Given the description of an element on the screen output the (x, y) to click on. 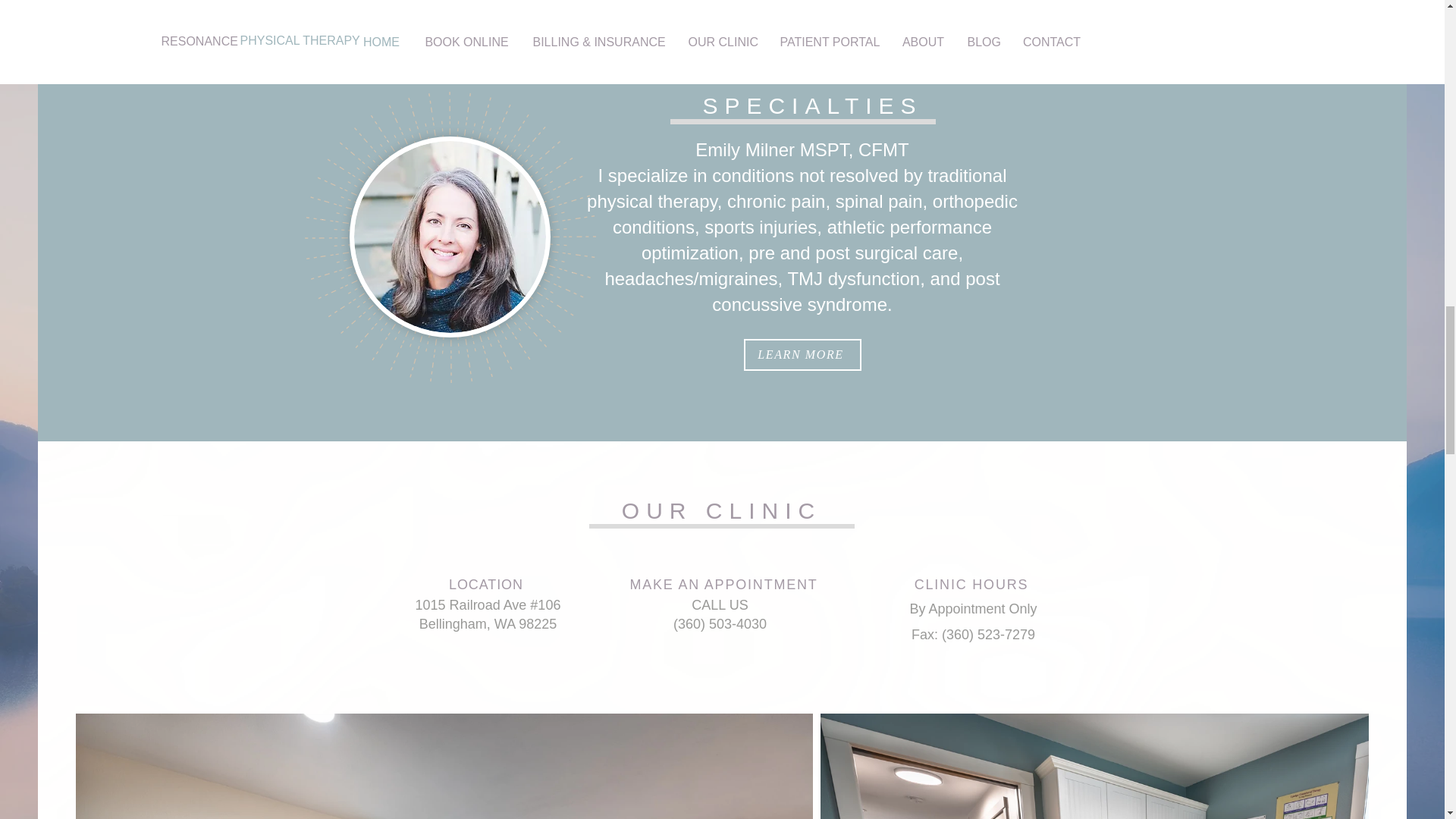
LEARN MORE (801, 355)
